Given the description of an element on the screen output the (x, y) to click on. 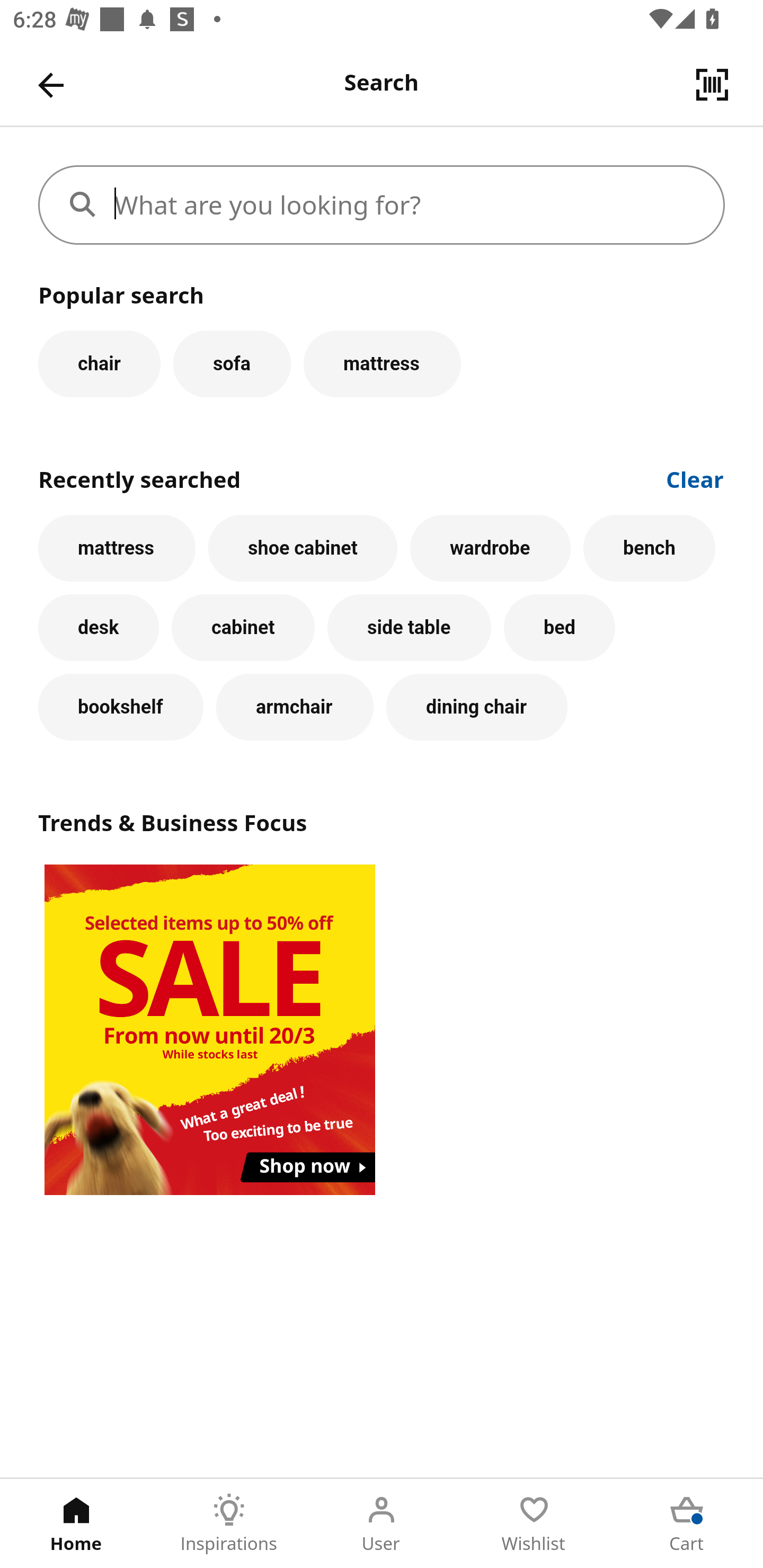
chair (99, 363)
sofa (231, 363)
mattress (381, 363)
Clear (695, 477)
mattress (116, 547)
shoe cabinet (302, 547)
wardrobe (490, 547)
bench (649, 547)
desk (98, 627)
cabinet (242, 627)
side table (409, 627)
bed (558, 627)
bookshelf (120, 707)
armchair (294, 707)
dining chair (476, 707)
Home
Tab 1 of 5 (76, 1522)
Inspirations
Tab 2 of 5 (228, 1522)
User
Tab 3 of 5 (381, 1522)
Wishlist
Tab 4 of 5 (533, 1522)
Cart
Tab 5 of 5 (686, 1522)
